Given the description of an element on the screen output the (x, y) to click on. 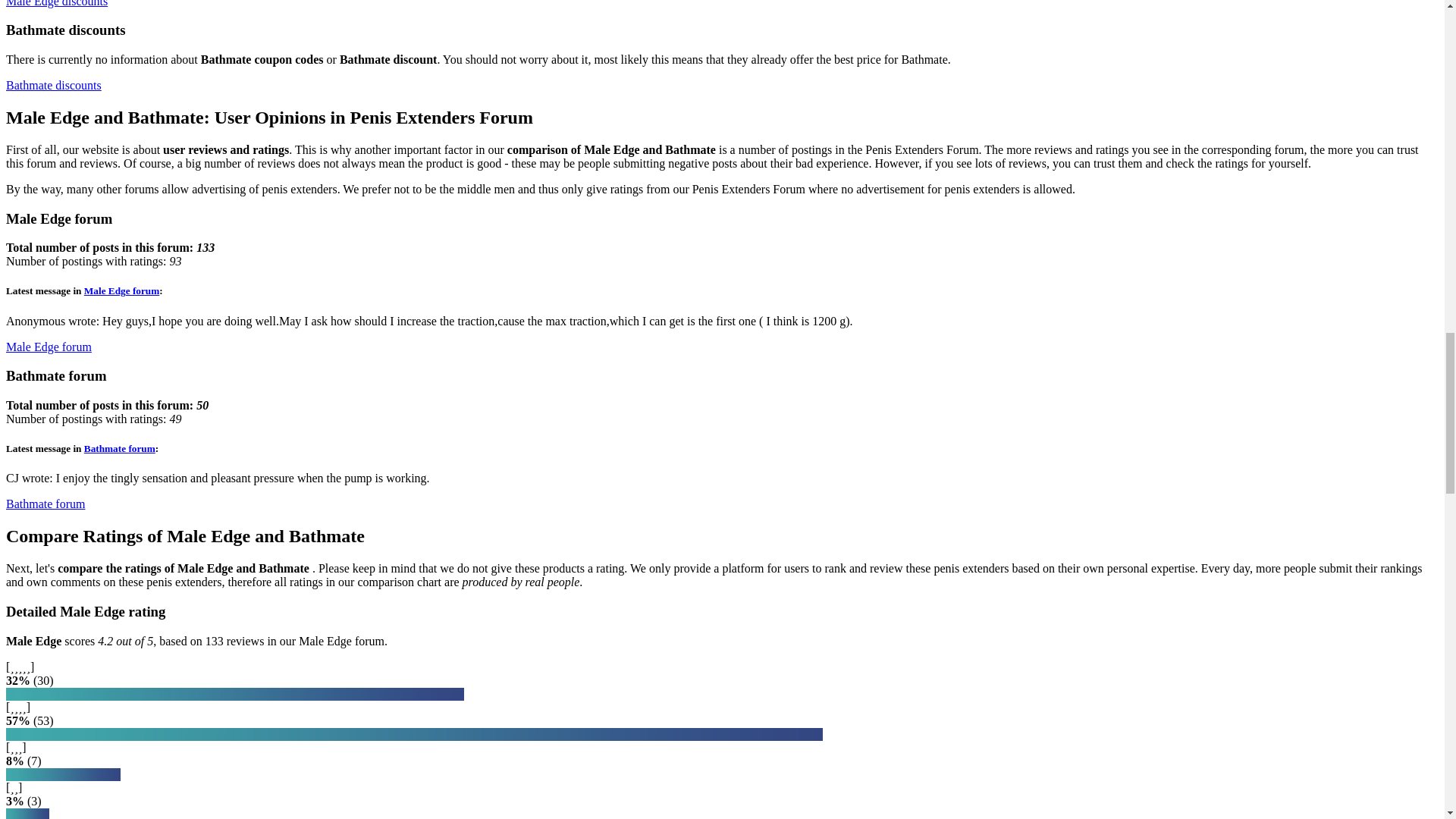
Male Edge forum (48, 346)
Bathmate forum (44, 503)
Male Edge discounts (56, 3)
Bathmate forum (119, 448)
Bathmate discounts (53, 84)
Male Edge forum (121, 290)
